Given the description of an element on the screen output the (x, y) to click on. 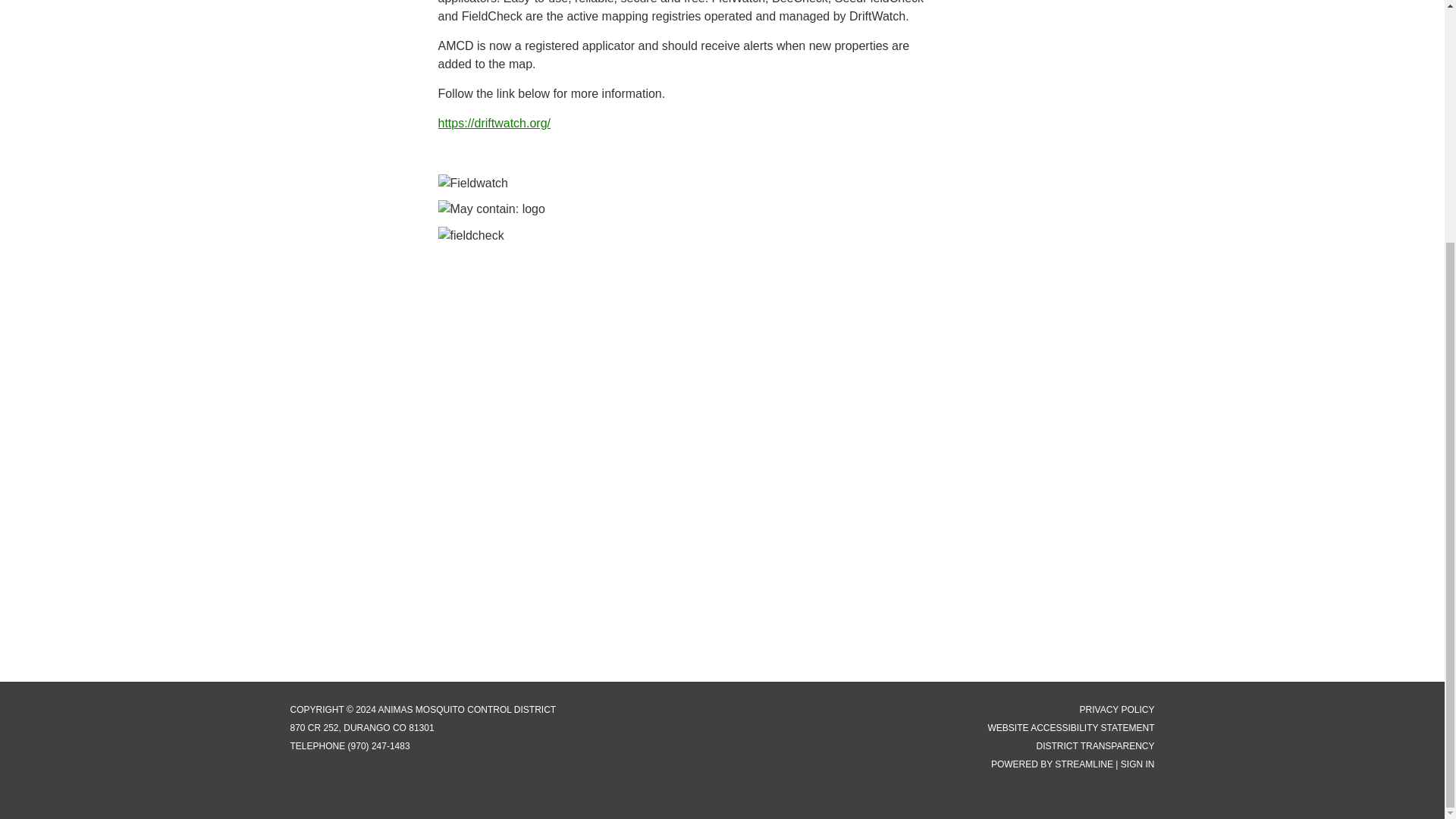
PRIVACY POLICY (1117, 709)
Streamline: Technology for Special Districts (1083, 764)
WEBSITE ACCESSIBILITY STATEMENT (1070, 727)
Special District Transparency Report (1094, 746)
SIGN IN (1137, 764)
STREAMLINE (1083, 764)
DISTRICT TRANSPARENCY (1094, 746)
